Given the description of an element on the screen output the (x, y) to click on. 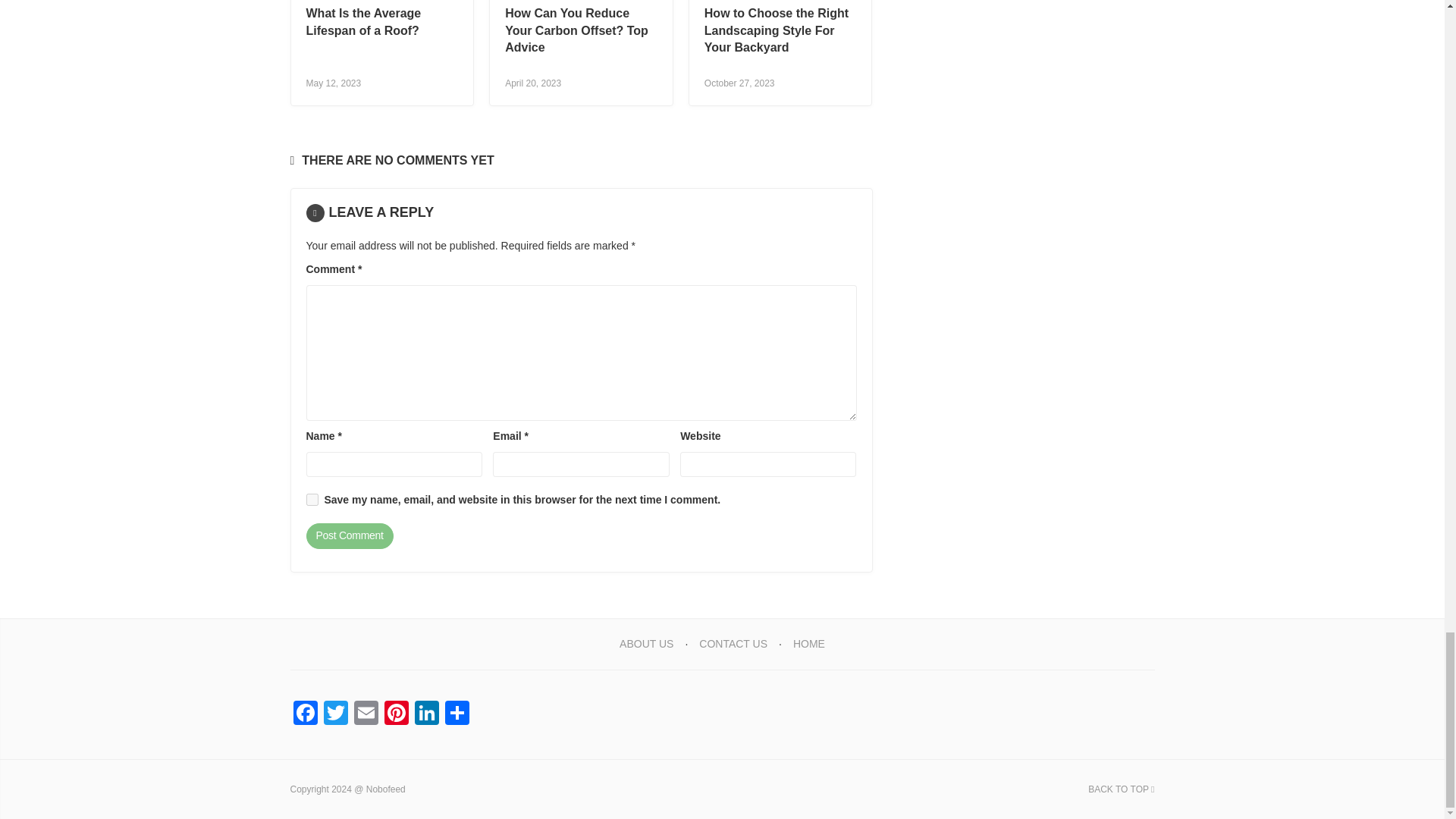
BACK TO TOP  (1120, 789)
Post Comment (349, 535)
yes (311, 499)
